Given the description of an element on the screen output the (x, y) to click on. 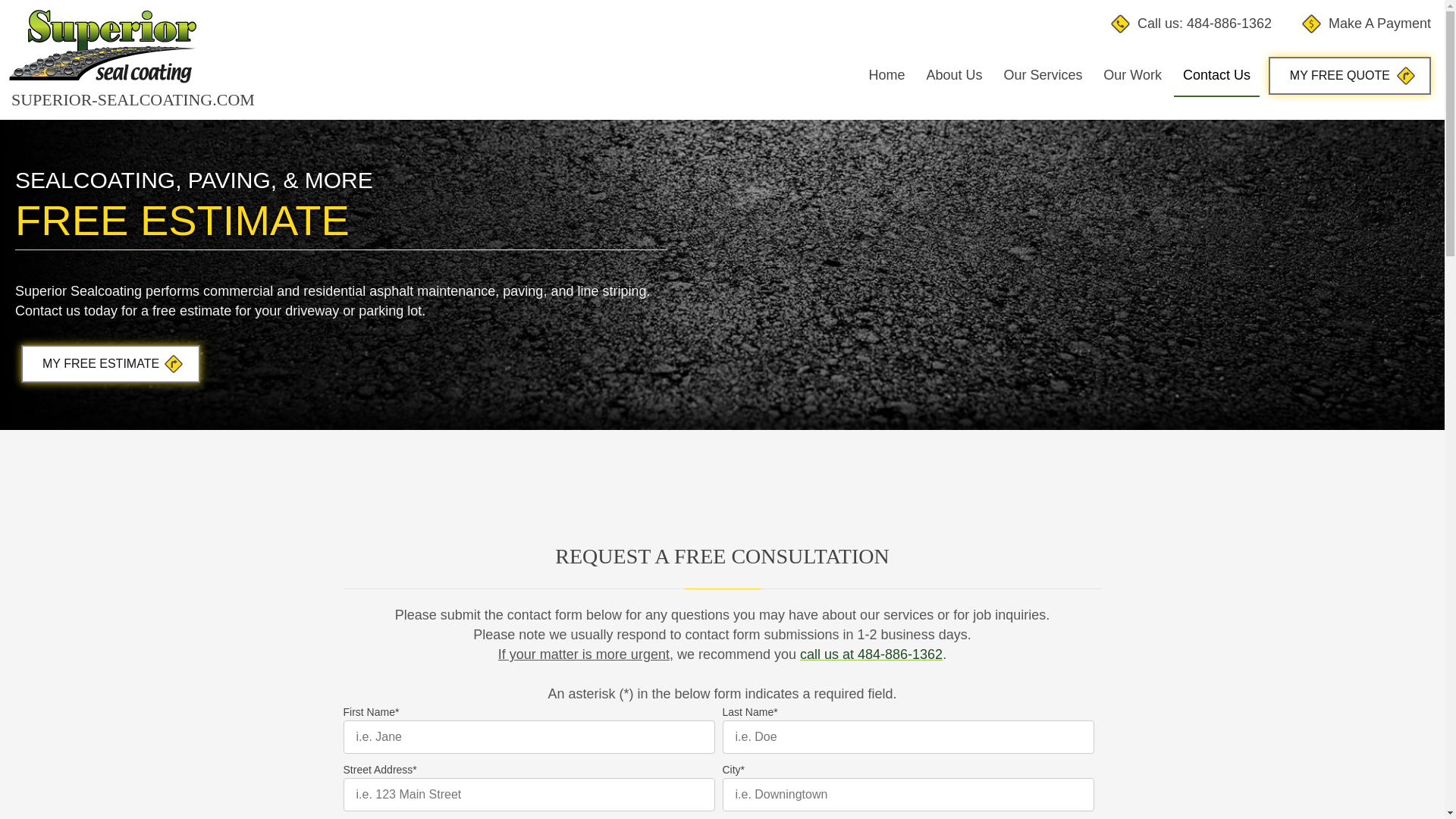
Call us: 484-886-1362 (1191, 23)
contact page (1216, 75)
Make A Payment (1366, 23)
Our Services (1042, 75)
link to call (1191, 23)
MY FREE QUOTE (1349, 75)
Services (1042, 75)
Contact Us (1349, 75)
Home (887, 75)
about page (954, 75)
link to pay (1366, 23)
SUPERIOR-SEALCOATING.COM (159, 59)
call us at 484-886-1362 (870, 654)
call us (870, 654)
Our Work (1132, 75)
